Given the description of an element on the screen output the (x, y) to click on. 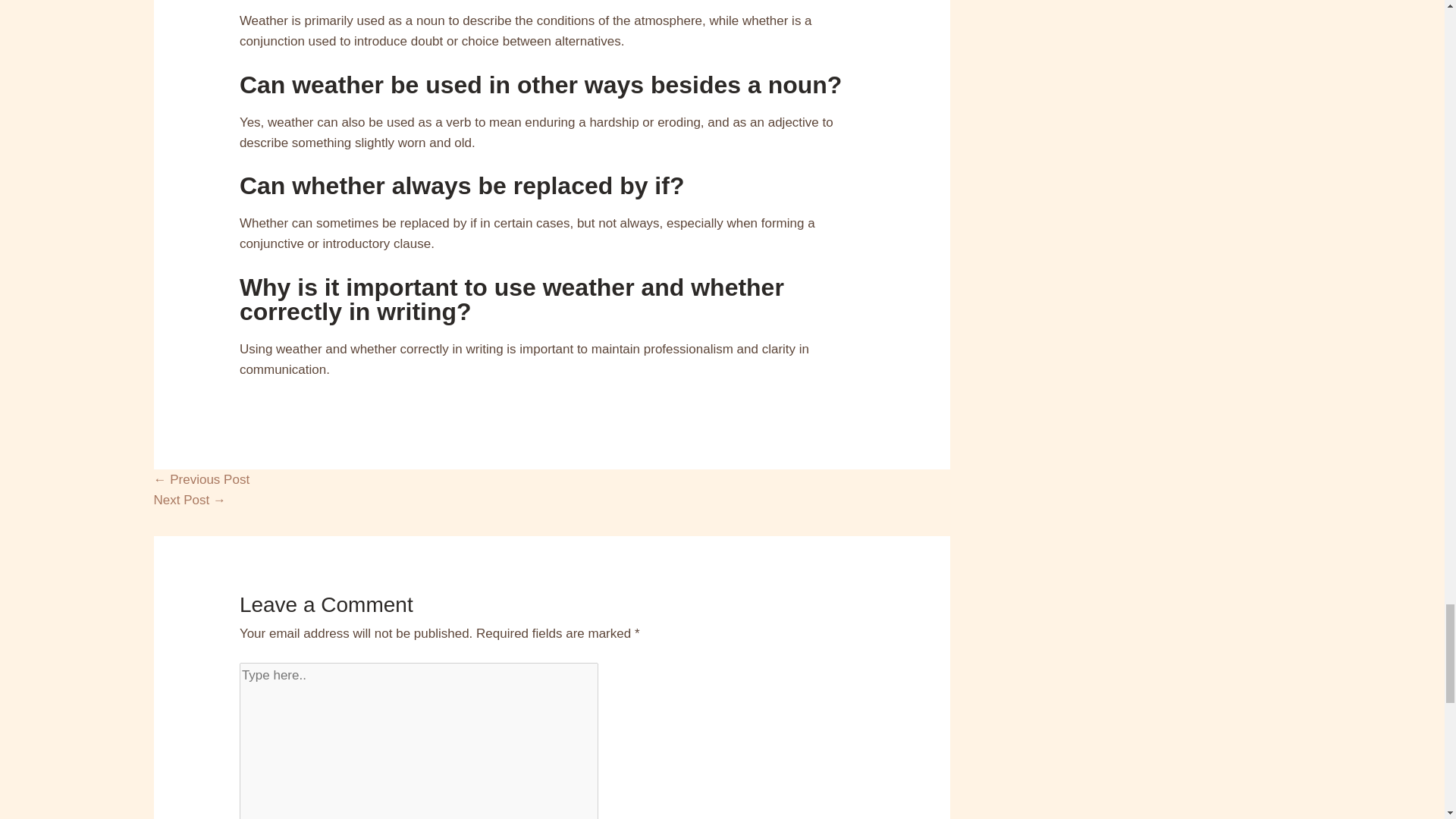
Cite vs. Site vs. Sight: Three Words, Three Uses (200, 479)
Peak, Pique, or Peek: Three Words, Three Meanings. (188, 499)
